Given the description of an element on the screen output the (x, y) to click on. 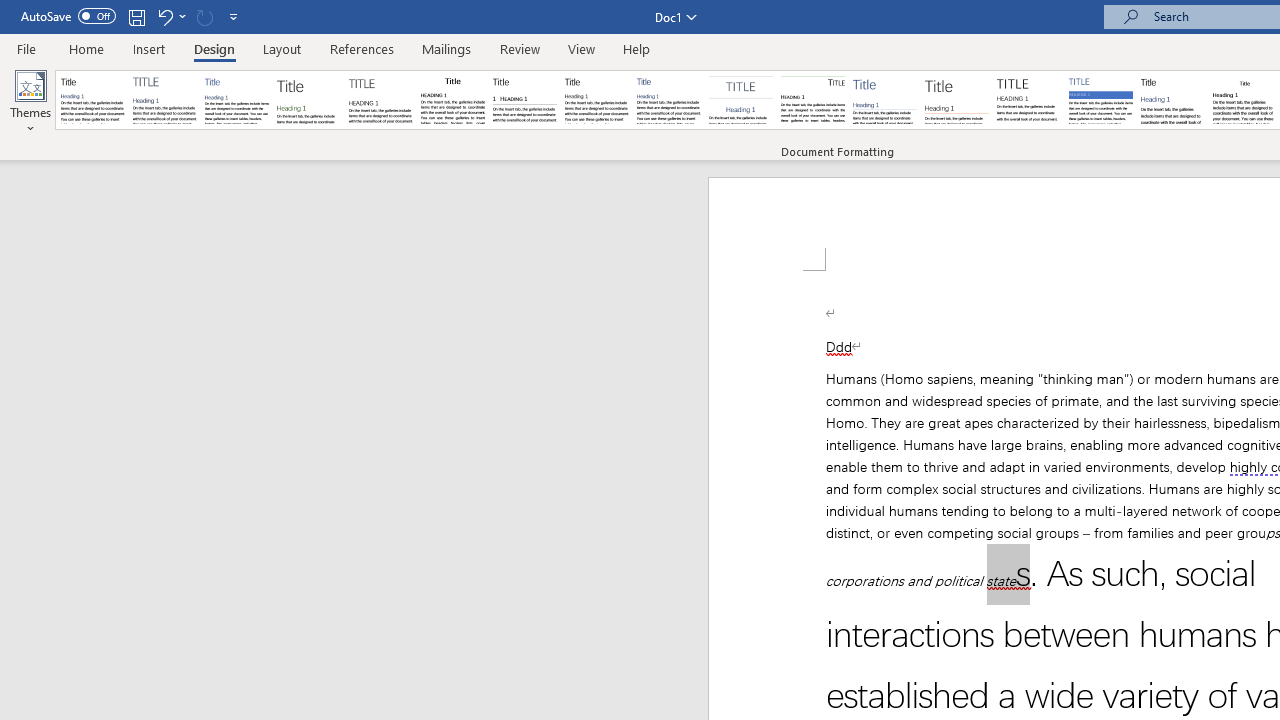
Shaded (1100, 100)
Lines (Simple) (884, 100)
Undo Apply Quick Style Set (164, 15)
